Given the description of an element on the screen output the (x, y) to click on. 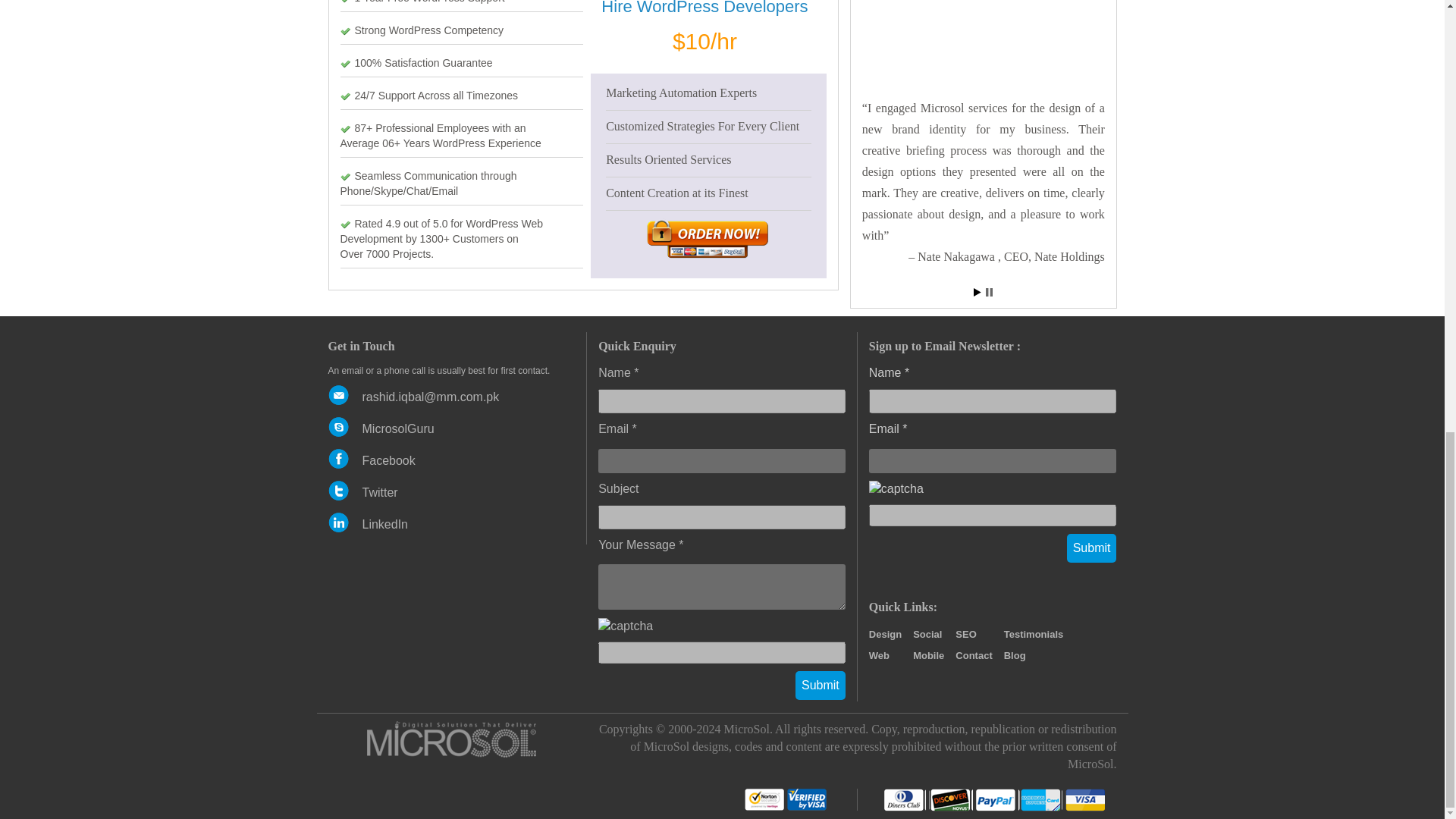
Submit (1091, 548)
Twitter (379, 492)
MicrosolGuru (397, 428)
Facebook (388, 460)
LinkedIn (385, 523)
Submit (819, 685)
Start (977, 292)
Submit (819, 685)
